Given the description of an element on the screen output the (x, y) to click on. 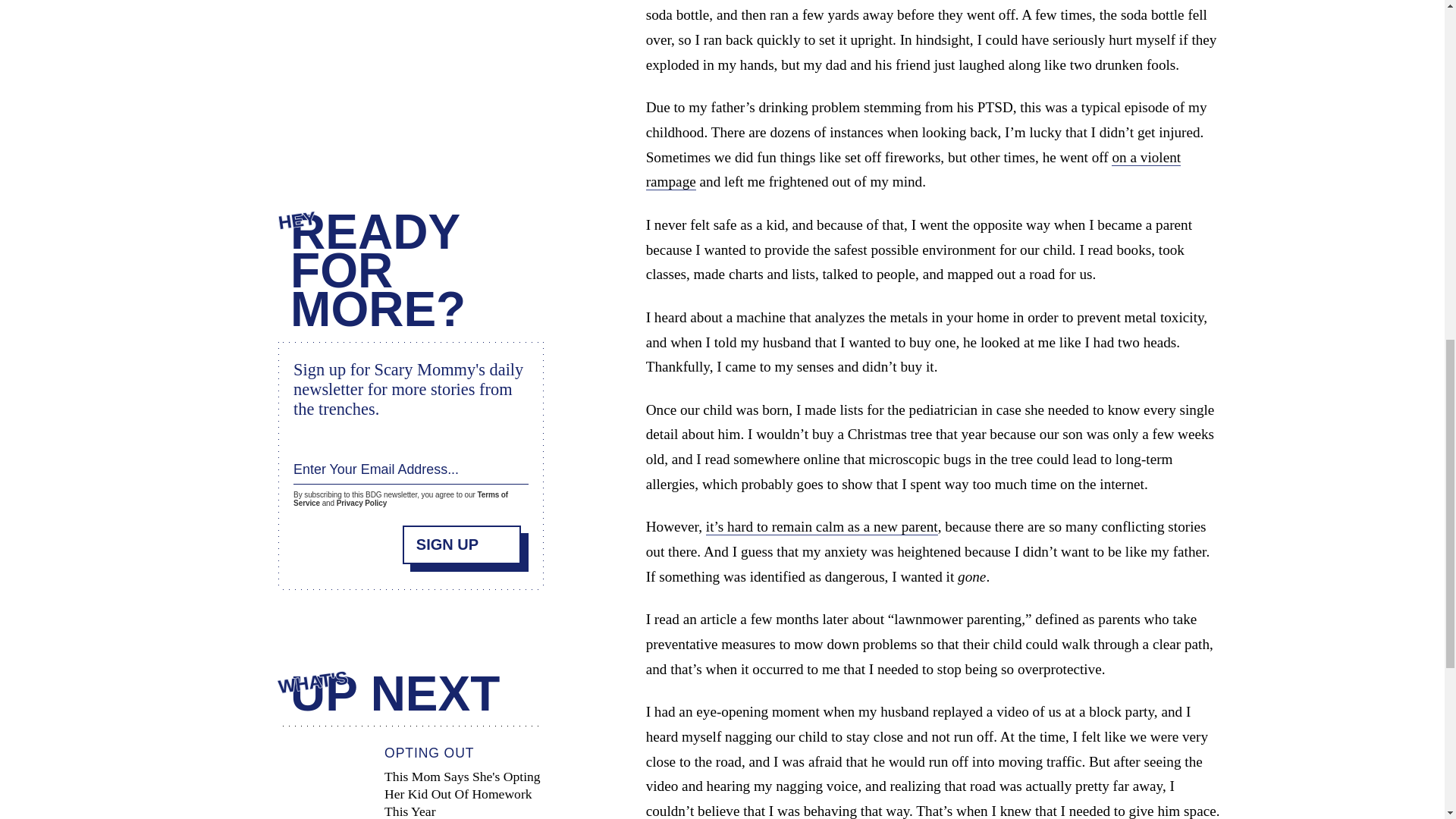
on a violent rampage (913, 169)
Privacy Policy (361, 502)
SIGN UP (462, 544)
Terms of Service (401, 498)
